Given the description of an element on the screen output the (x, y) to click on. 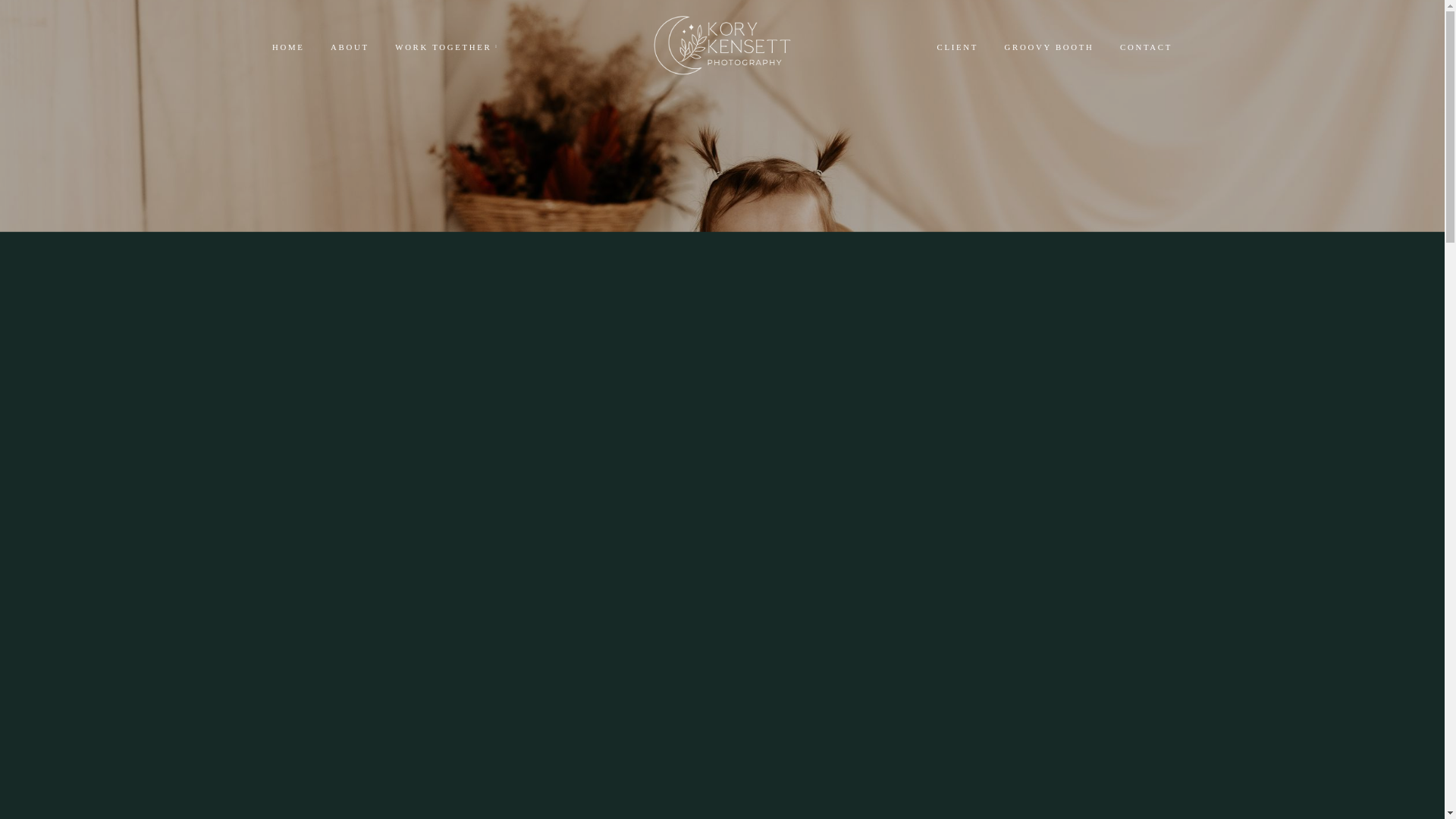
CONTACT (1273, 52)
CLIENT (1064, 52)
WORK TOGETHER (497, 52)
ABOUT (388, 52)
GROOVY BOOTH (1166, 52)
HOME (320, 52)
